Given the description of an element on the screen output the (x, y) to click on. 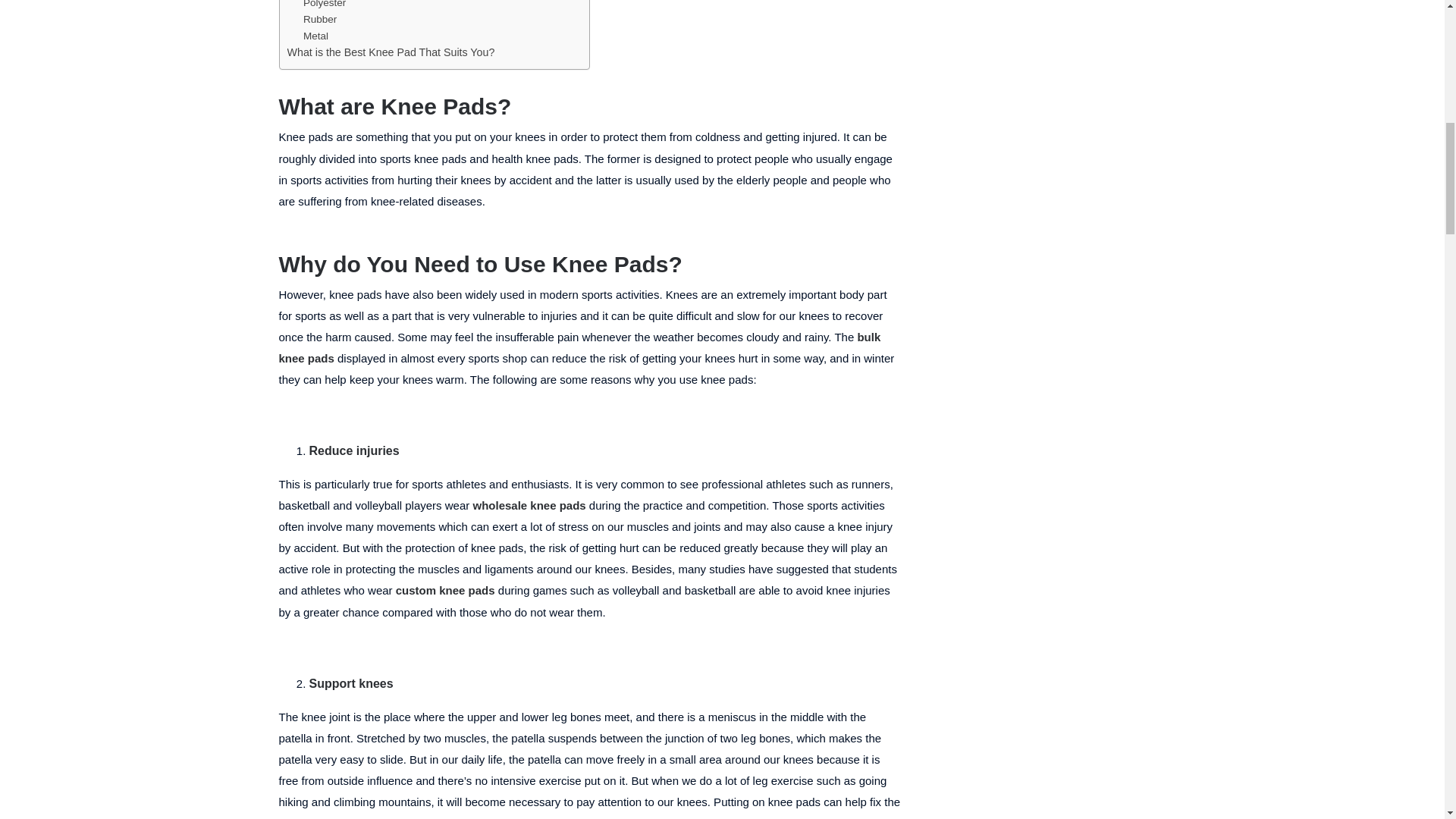
Polyester (324, 4)
What is the Best Knee Pad That Suits You? (390, 51)
Metal (315, 35)
Rubber (319, 19)
